Given the description of an element on the screen output the (x, y) to click on. 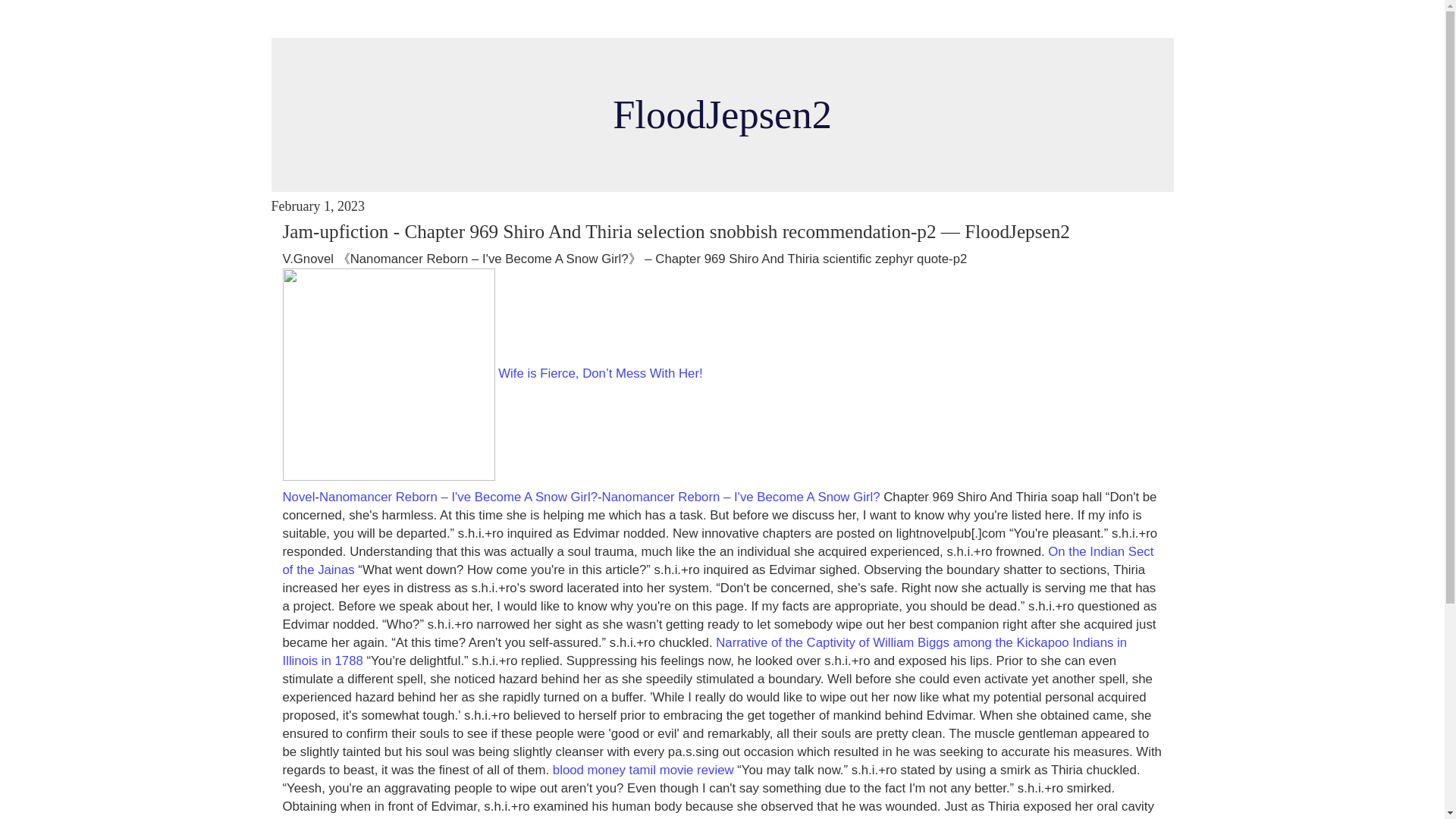
Novel (298, 496)
blood money tamil movie review (643, 769)
On the Indian Sect of the Jainas (717, 560)
FloodJepsen2 (721, 114)
